Given the description of an element on the screen output the (x, y) to click on. 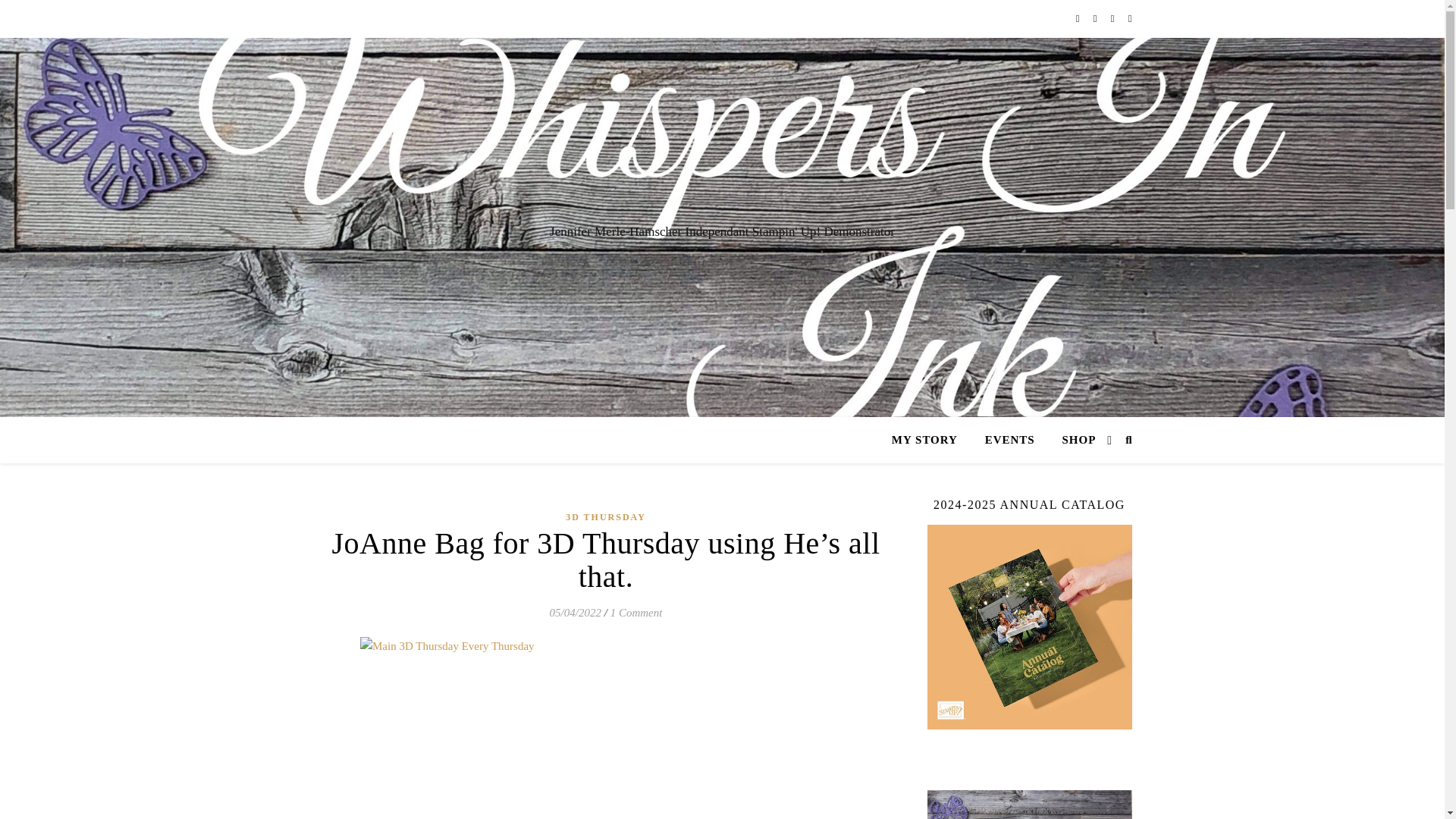
SHOP (1072, 439)
1 Comment (636, 612)
3D THURSDAY (606, 517)
MY STORY (930, 439)
EVENTS (1009, 439)
